Given the description of an element on the screen output the (x, y) to click on. 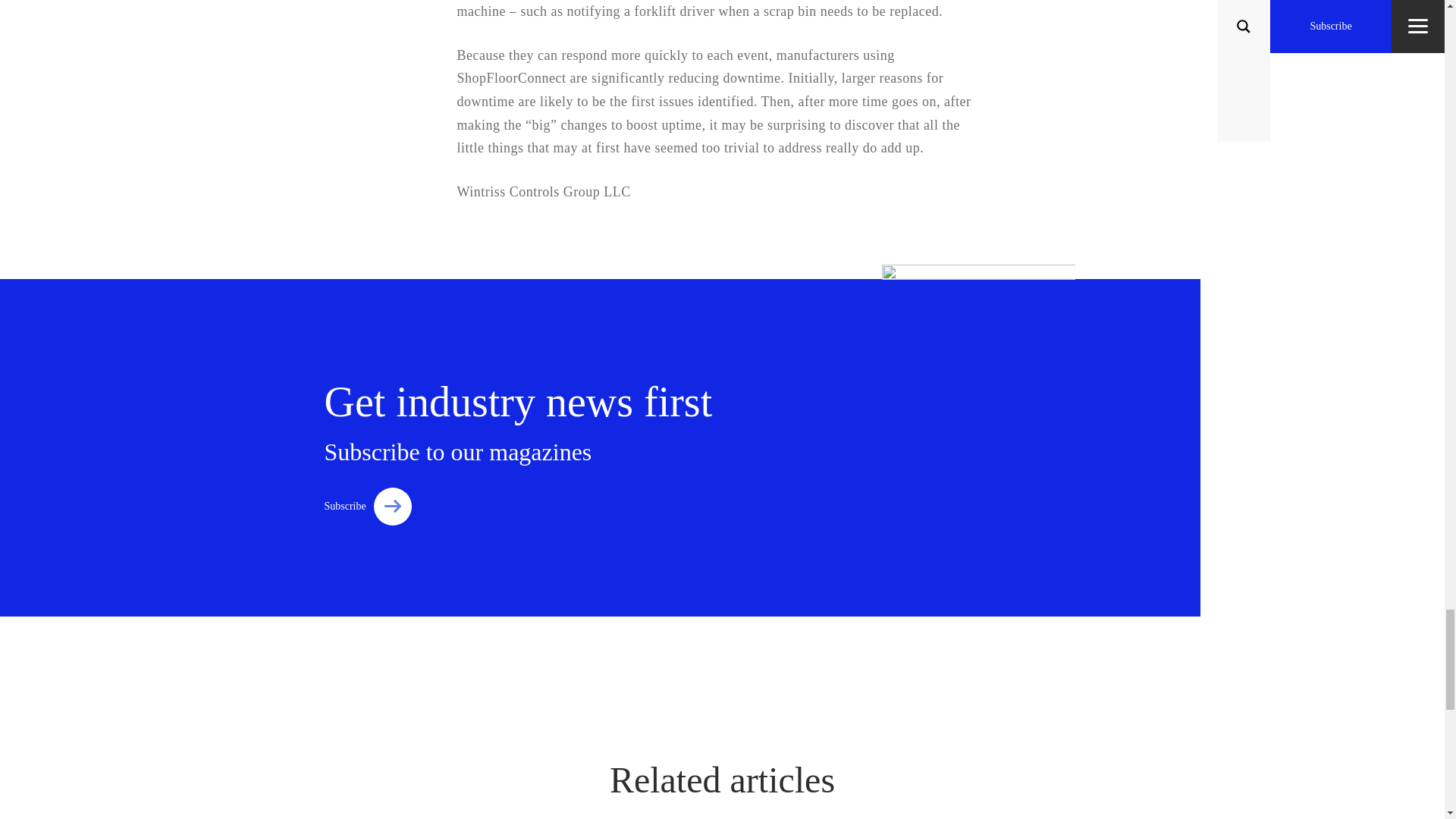
Subscribe (368, 506)
Wintriss Controls Group LLC (543, 191)
